Given the description of an element on the screen output the (x, y) to click on. 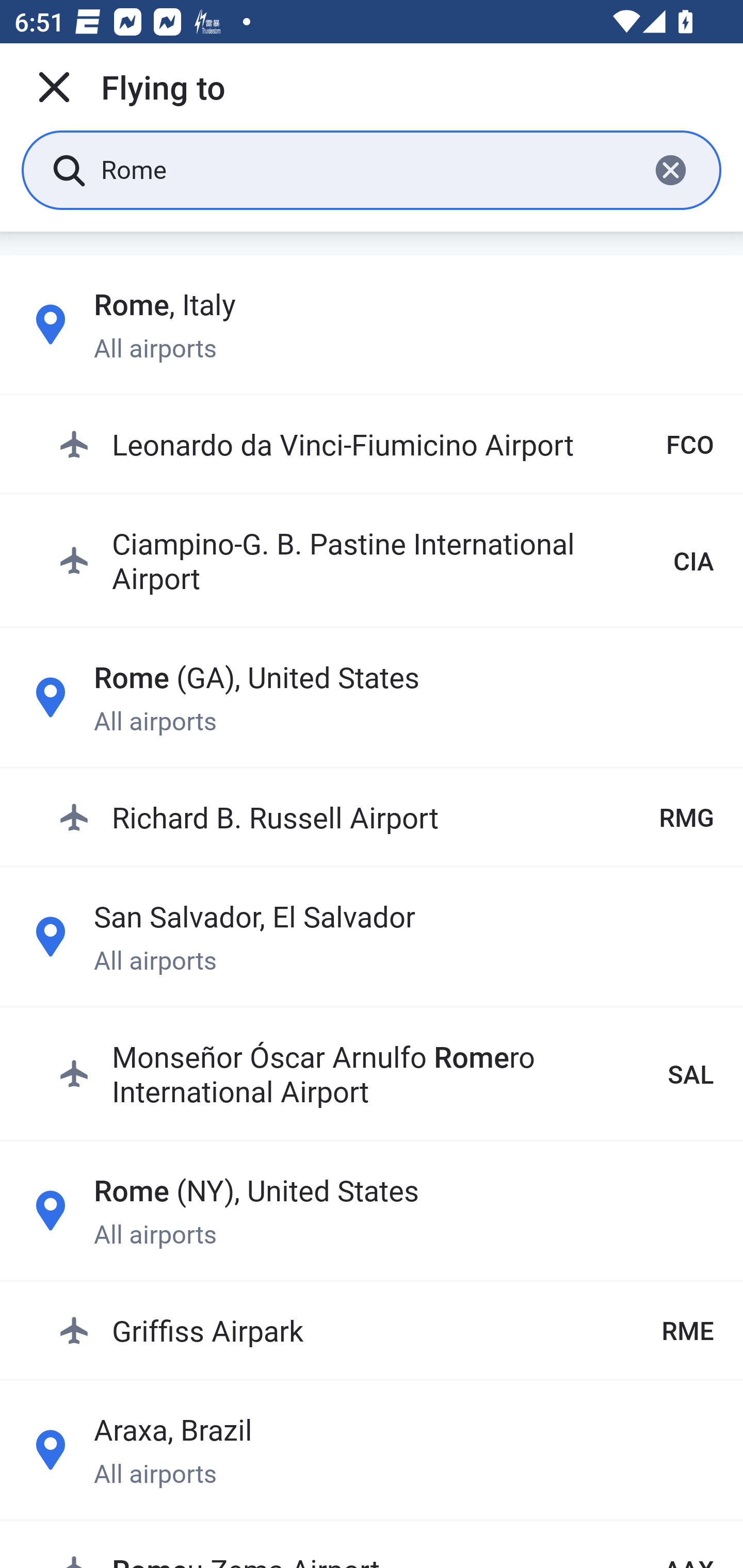
Rome (367, 169)
Rome, Italy All airports (371, 324)
Leonardo da Vinci-Fiumicino Airport FCO (385, 444)
Ciampino-G. B. Pastine International Airport CIA (385, 560)
Rome (GA), United States All airports (371, 696)
Richard B. Russell Airport RMG (385, 816)
San Salvador, El Salvador All airports (371, 936)
Rome (NY), United States All airports (371, 1210)
Griffiss Airpark RME (385, 1330)
Araxa, Brazil All airports (371, 1449)
